Given the description of an element on the screen output the (x, y) to click on. 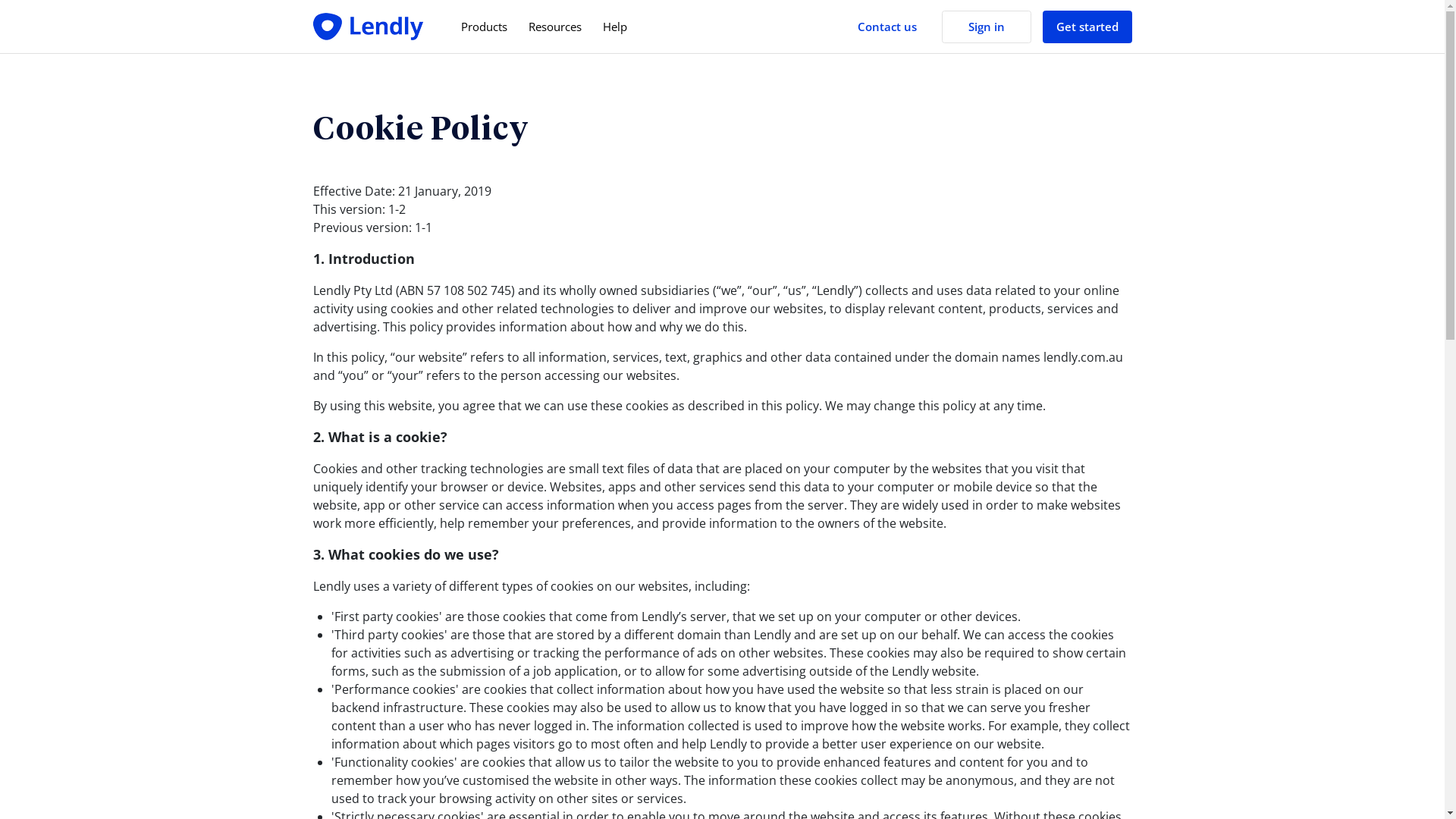
Sign in Element type: text (986, 26)
Products Element type: text (483, 26)
Contact us Element type: text (886, 26)
Help Element type: text (614, 26)
Resources Element type: text (554, 26)
Get started Element type: text (1086, 26)
